Given the description of an element on the screen output the (x, y) to click on. 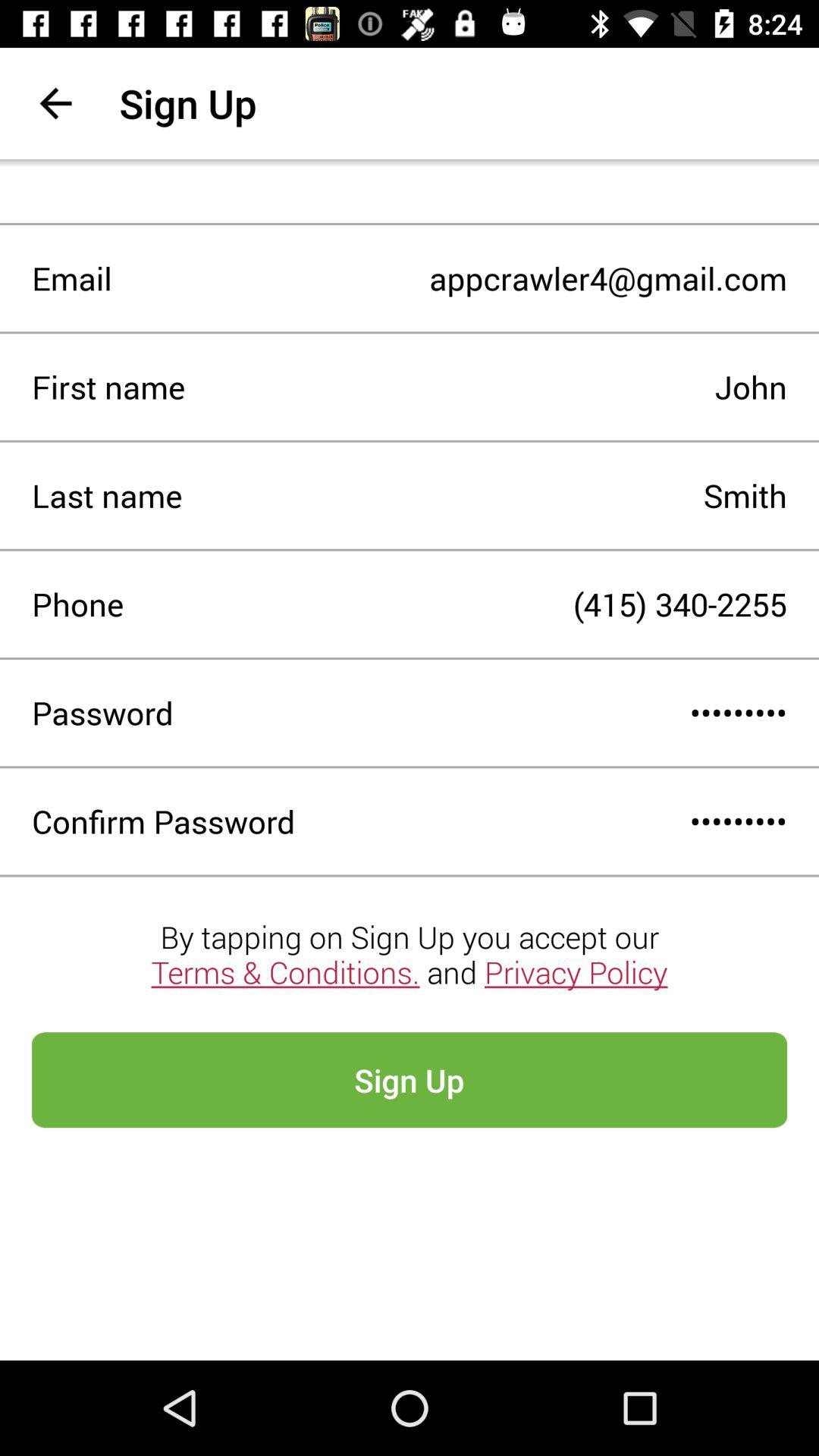
turn off item next to first name item (486, 386)
